Given the description of an element on the screen output the (x, y) to click on. 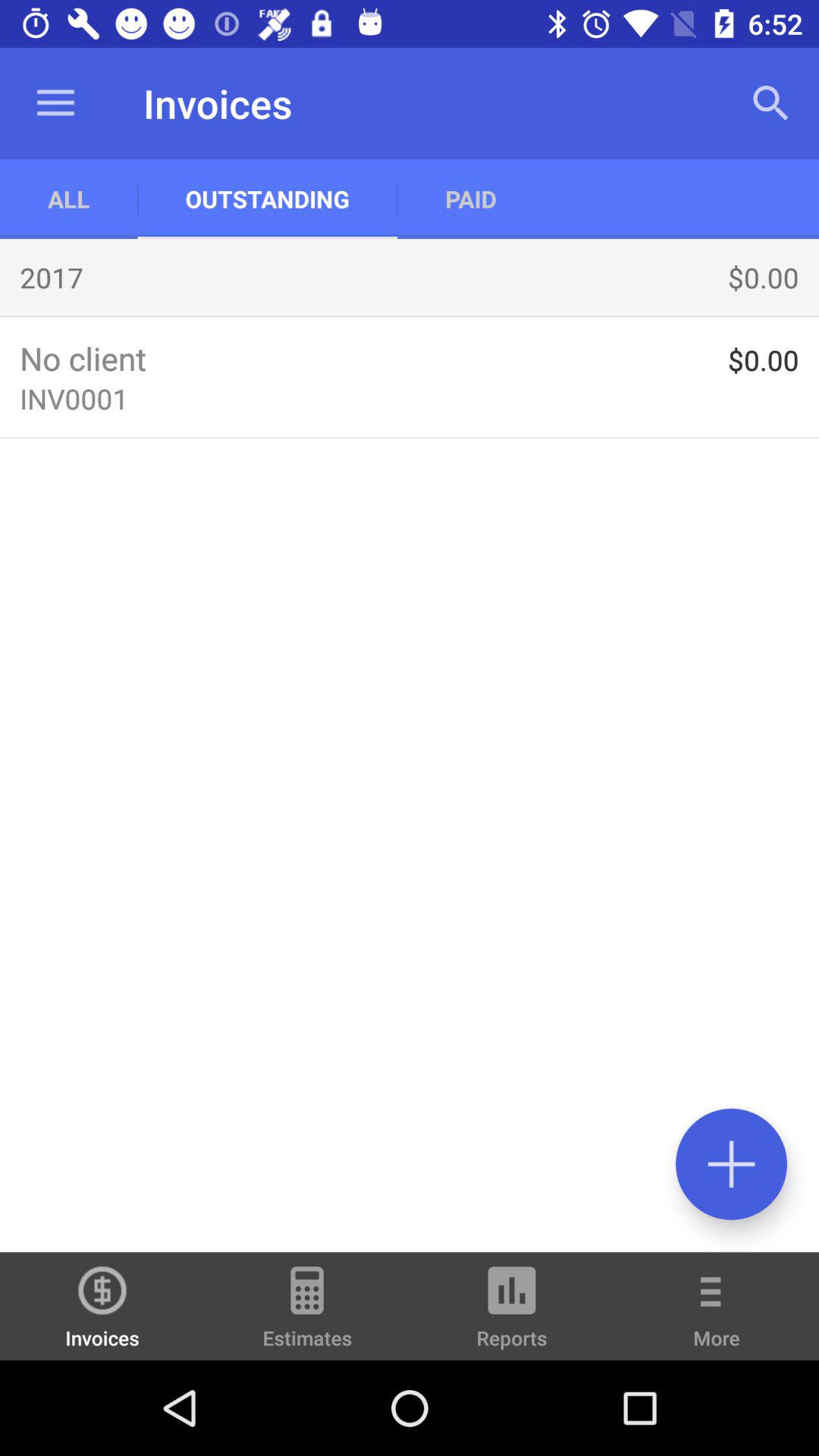
press the positive symbol (731, 1163)
